Given the description of an element on the screen output the (x, y) to click on. 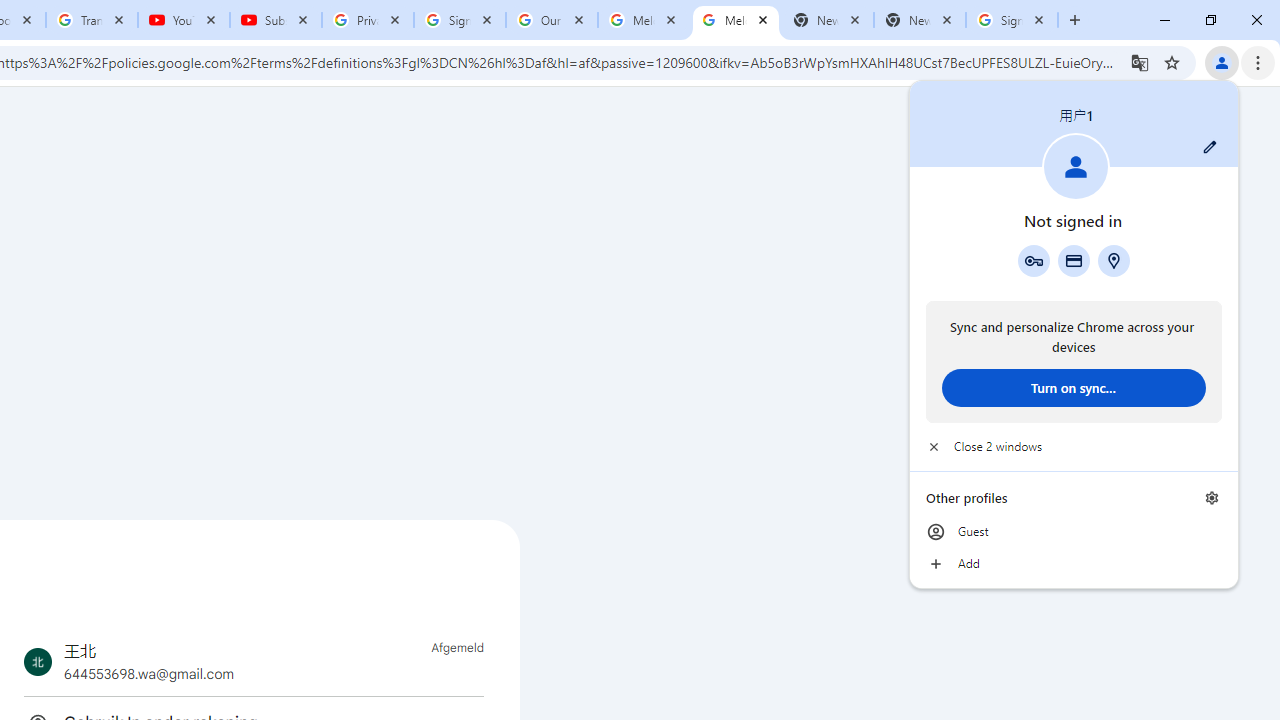
YouTube (184, 20)
Manage profiles (1211, 498)
Addresses and more (1114, 260)
Close 2 windows (1073, 446)
Guest (1073, 531)
Customize profile (1210, 147)
Sign in - Google Accounts (459, 20)
Google Password Manager (1033, 260)
Subscriptions - YouTube (276, 20)
